Given the description of an element on the screen output the (x, y) to click on. 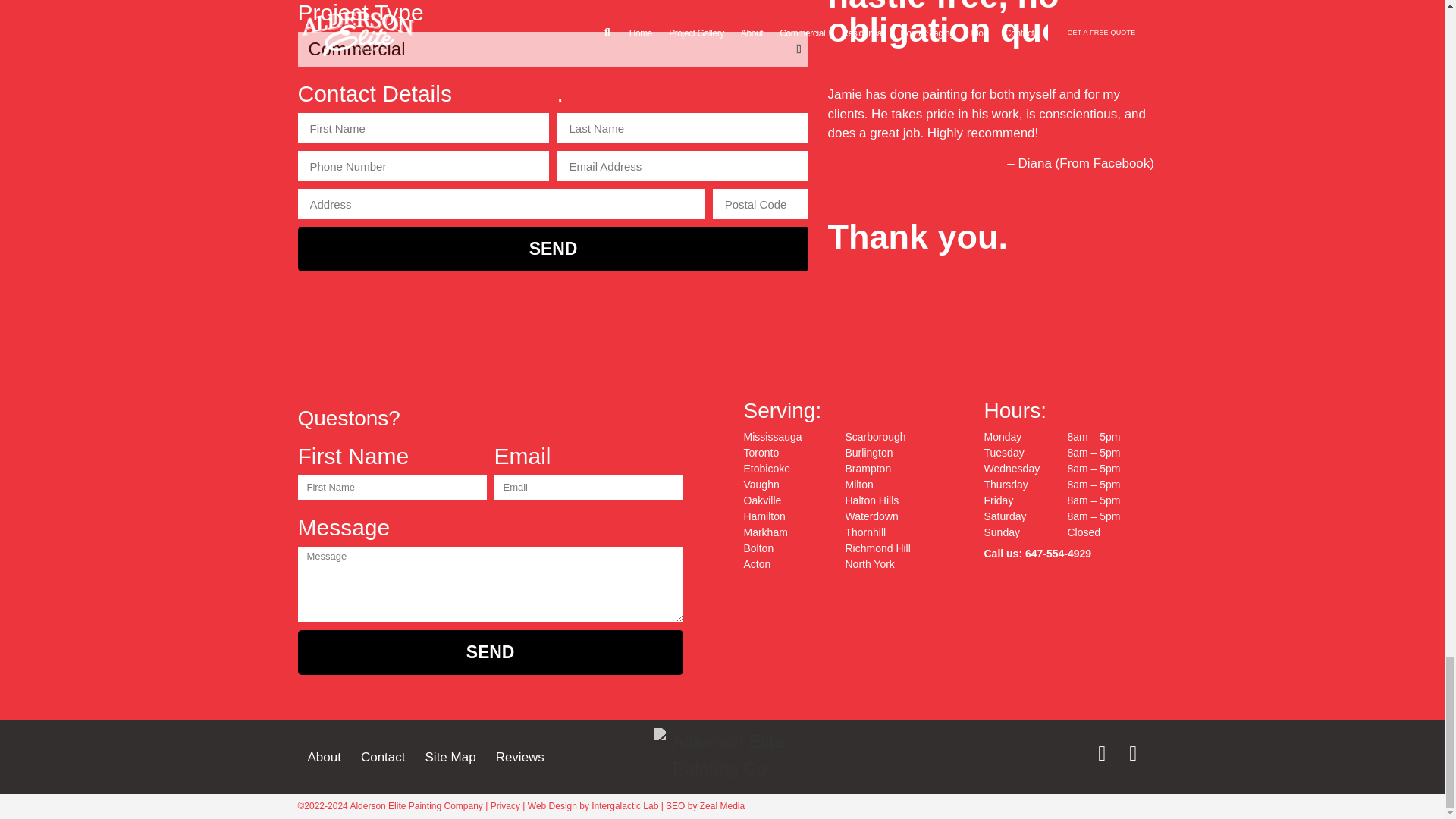
SEO by Zeal Media (704, 805)
Alderson Elite Logo Red (721, 757)
